Given the description of an element on the screen output the (x, y) to click on. 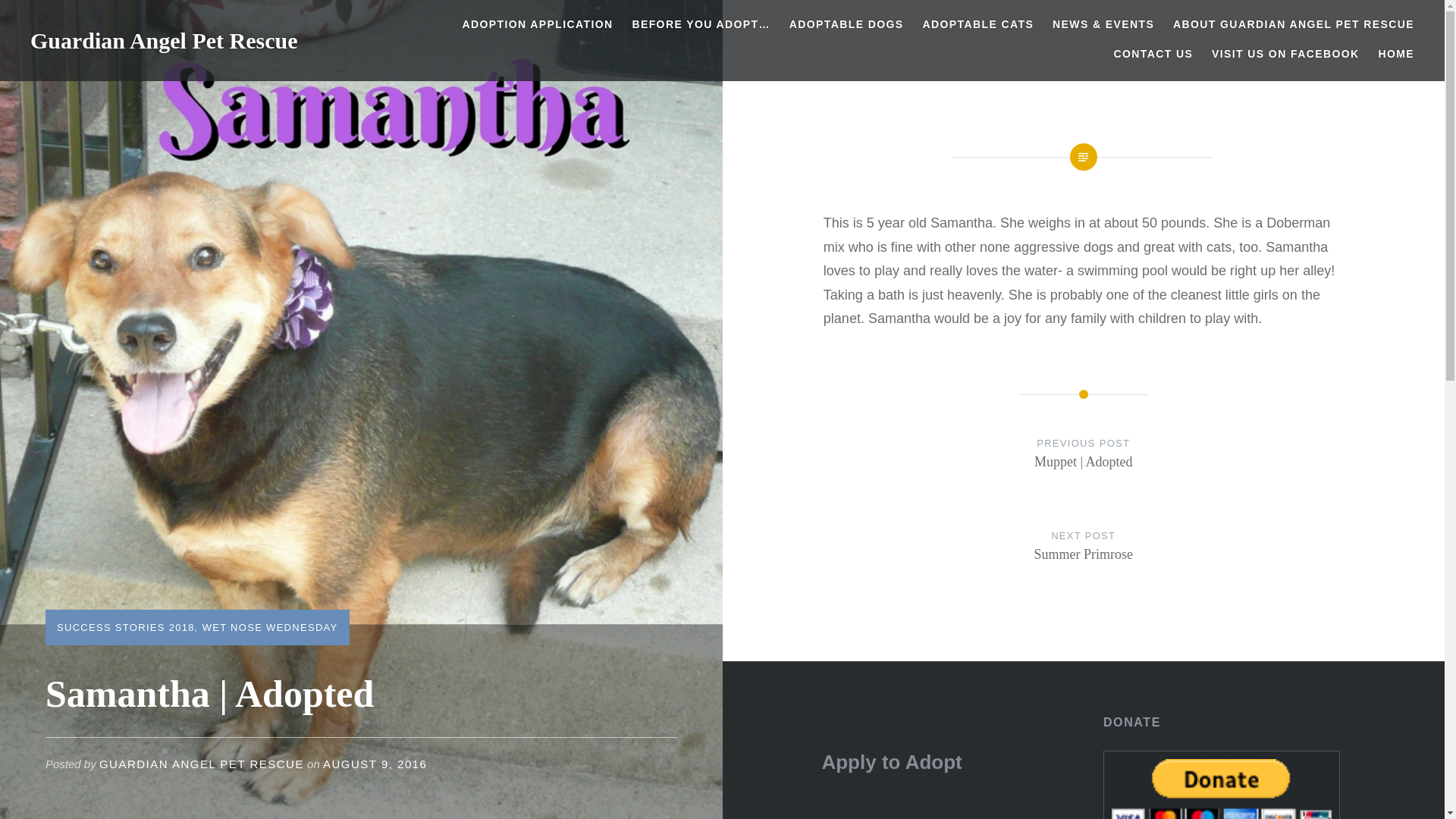
AUGUST 9, 2016 (374, 763)
GUARDIAN ANGEL PET RESCUE (201, 763)
VISIT US ON FACEBOOK (1284, 54)
ABOUT GUARDIAN ANGEL PET RESCUE (1293, 24)
ADOPTABLE DOGS (846, 24)
ADOPTION APPLICATION (536, 24)
HOME (1395, 54)
Search (141, 19)
Guardian Angel Pet Rescue (164, 40)
WET NOSE WEDNESDAY (269, 627)
Apply to Adopt (890, 762)
CONTACT US (1152, 54)
SUCCESS STORIES 2018 (125, 627)
ADOPTABLE CATS (1083, 559)
